Given the description of an element on the screen output the (x, y) to click on. 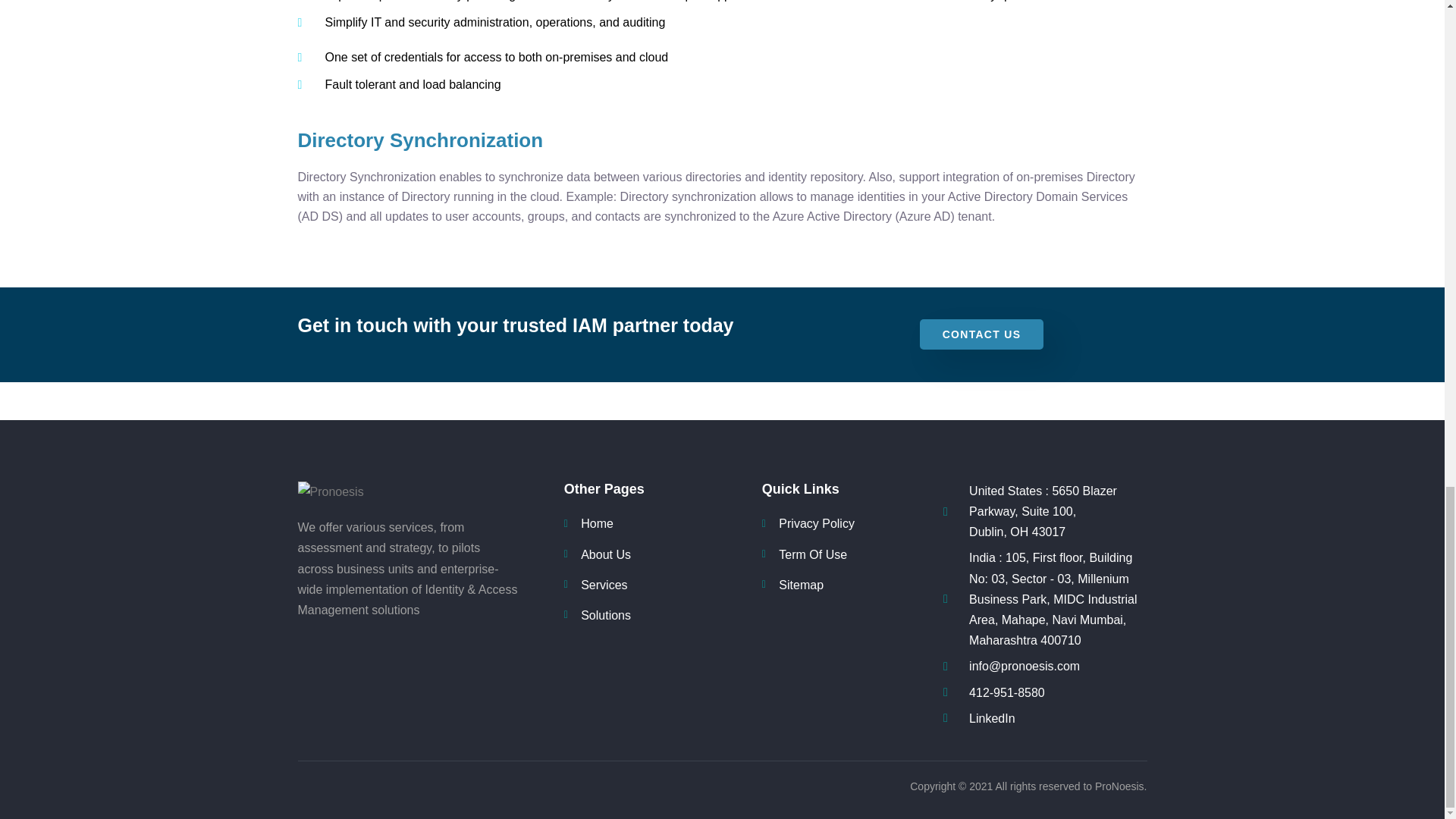
412-951-8580 (1045, 692)
Services (662, 584)
Privacy Policy (840, 523)
Home (662, 523)
Solutions (662, 615)
Term Of Use (840, 554)
LinkedIn (1045, 718)
CONTACT US (981, 334)
About Us (662, 554)
Pronoesis (380, 491)
Sitemap (840, 584)
